Given the description of an element on the screen output the (x, y) to click on. 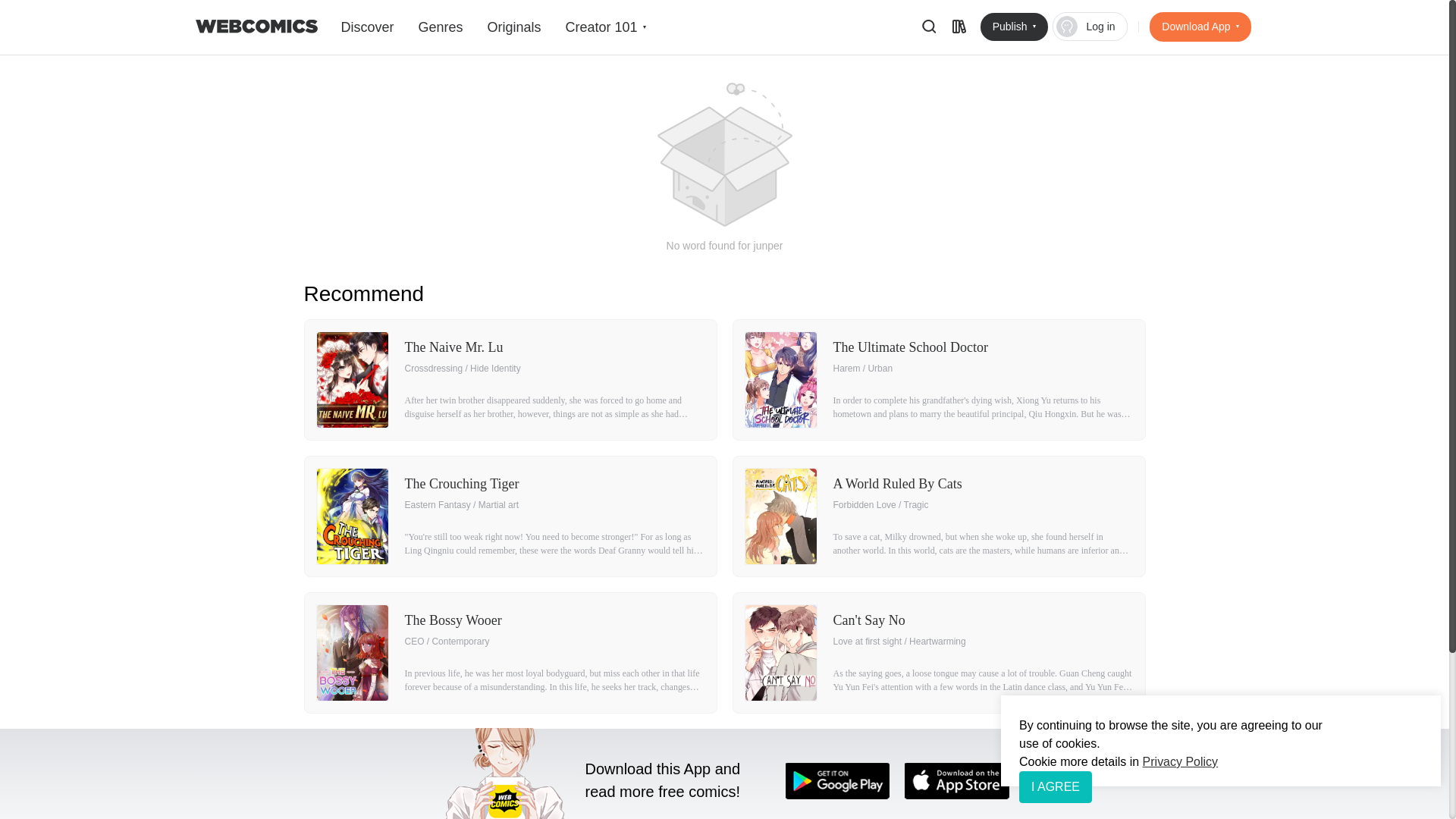
Log in (1089, 26)
I AGREE (1055, 787)
sheet (959, 26)
search (928, 26)
Download App (1200, 26)
Discover (366, 27)
Publish (1013, 26)
Creator 101 (604, 27)
